Given the description of an element on the screen output the (x, y) to click on. 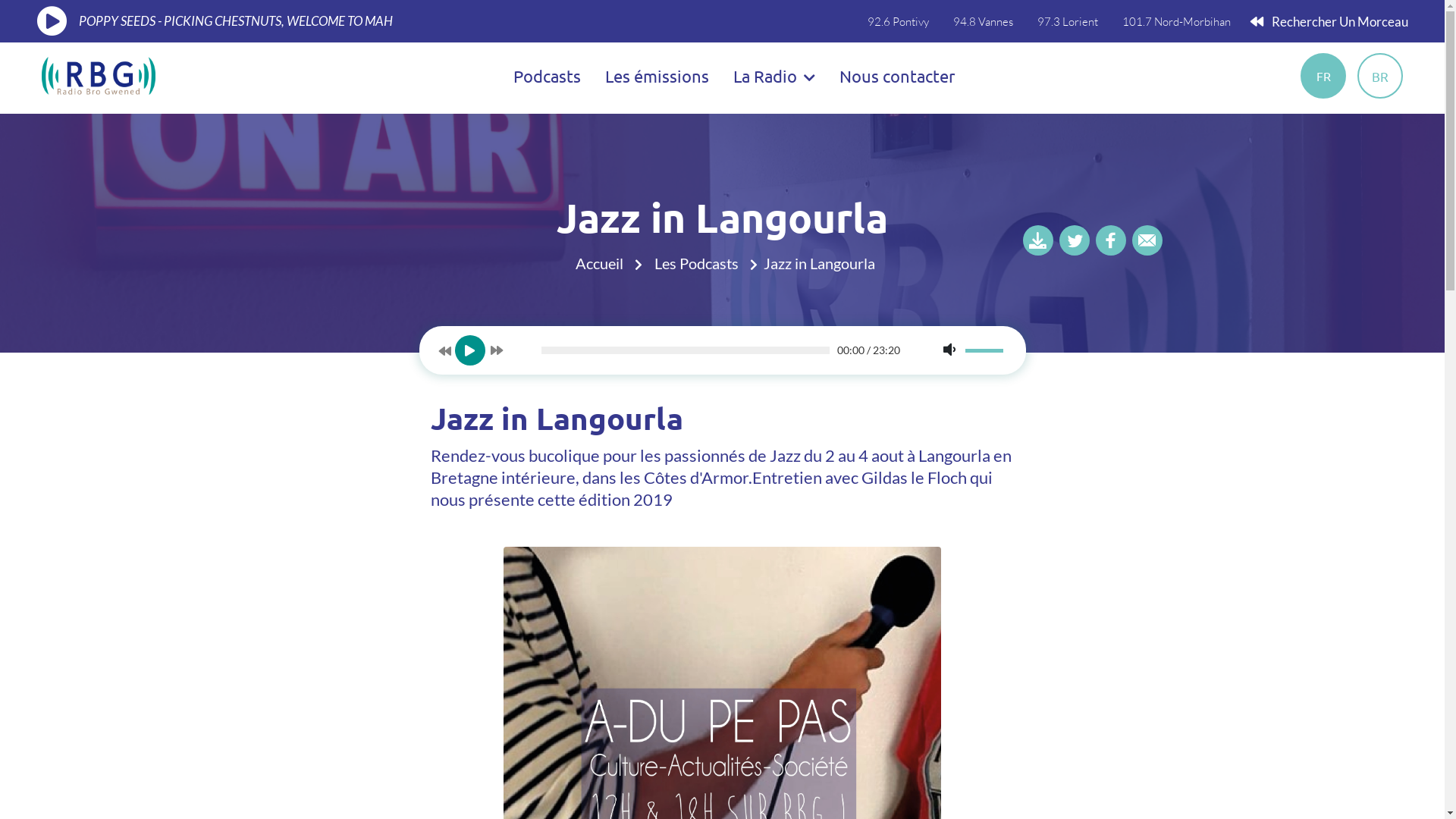
FR Element type: text (1323, 75)
Nous contacter Element type: text (896, 75)
Rechercher Un Morceau Element type: text (1329, 21)
Les Podcasts Element type: text (705, 263)
La Radio Element type: text (774, 75)
BR Element type: text (1379, 75)
Twitter Element type: hover (1074, 240)
logo_RBG Element type: hover (98, 73)
Accueil Element type: text (608, 263)
Facebook Element type: hover (1110, 240)
Podcasts Element type: text (547, 75)
play/pause Element type: hover (51, 21)
